Given the description of an element on the screen output the (x, y) to click on. 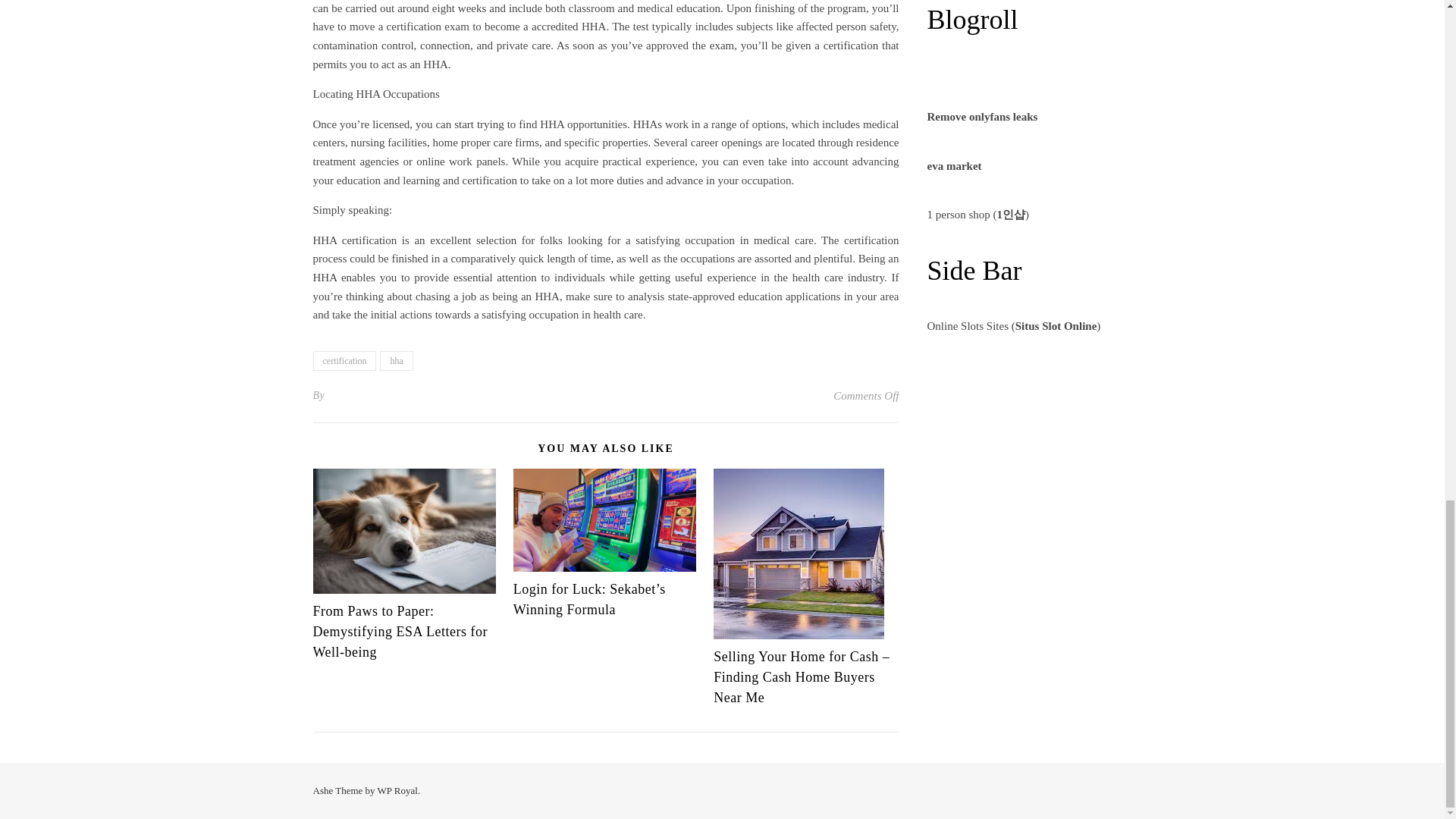
Remove onlyfans leaks (981, 116)
hha (396, 361)
certification (344, 361)
From Paws to Paper: Demystifying ESA Letters for Well-being (399, 631)
